Given the description of an element on the screen output the (x, y) to click on. 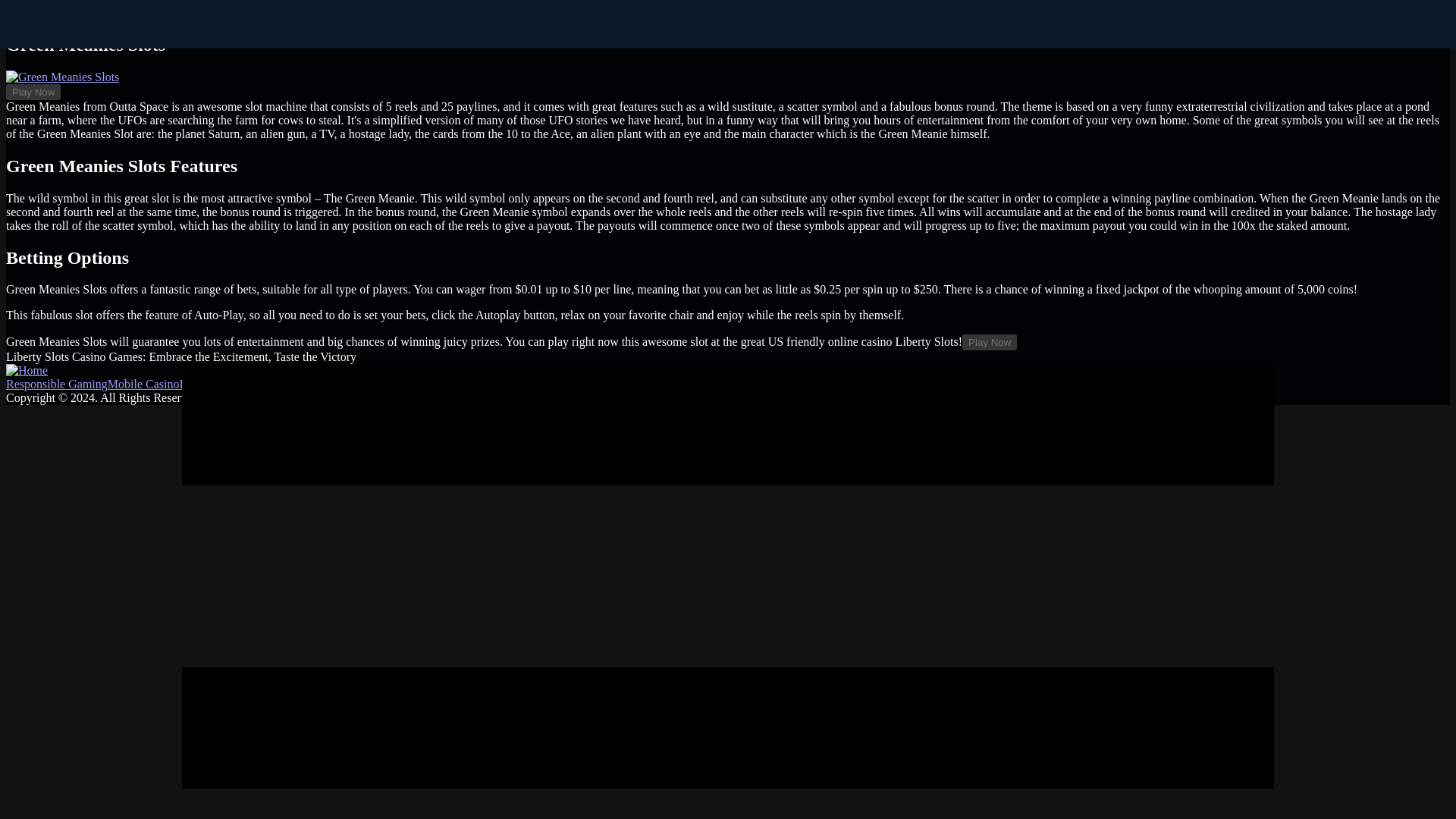
Liberty Slots Casino Bonus Codes (430, 383)
About Us (536, 383)
Liberty Slots Casino Terms of Use (262, 383)
Mobile Casino (143, 383)
Play Now (989, 342)
Responsible Gaming (56, 383)
Play Now (33, 91)
